Given the description of an element on the screen output the (x, y) to click on. 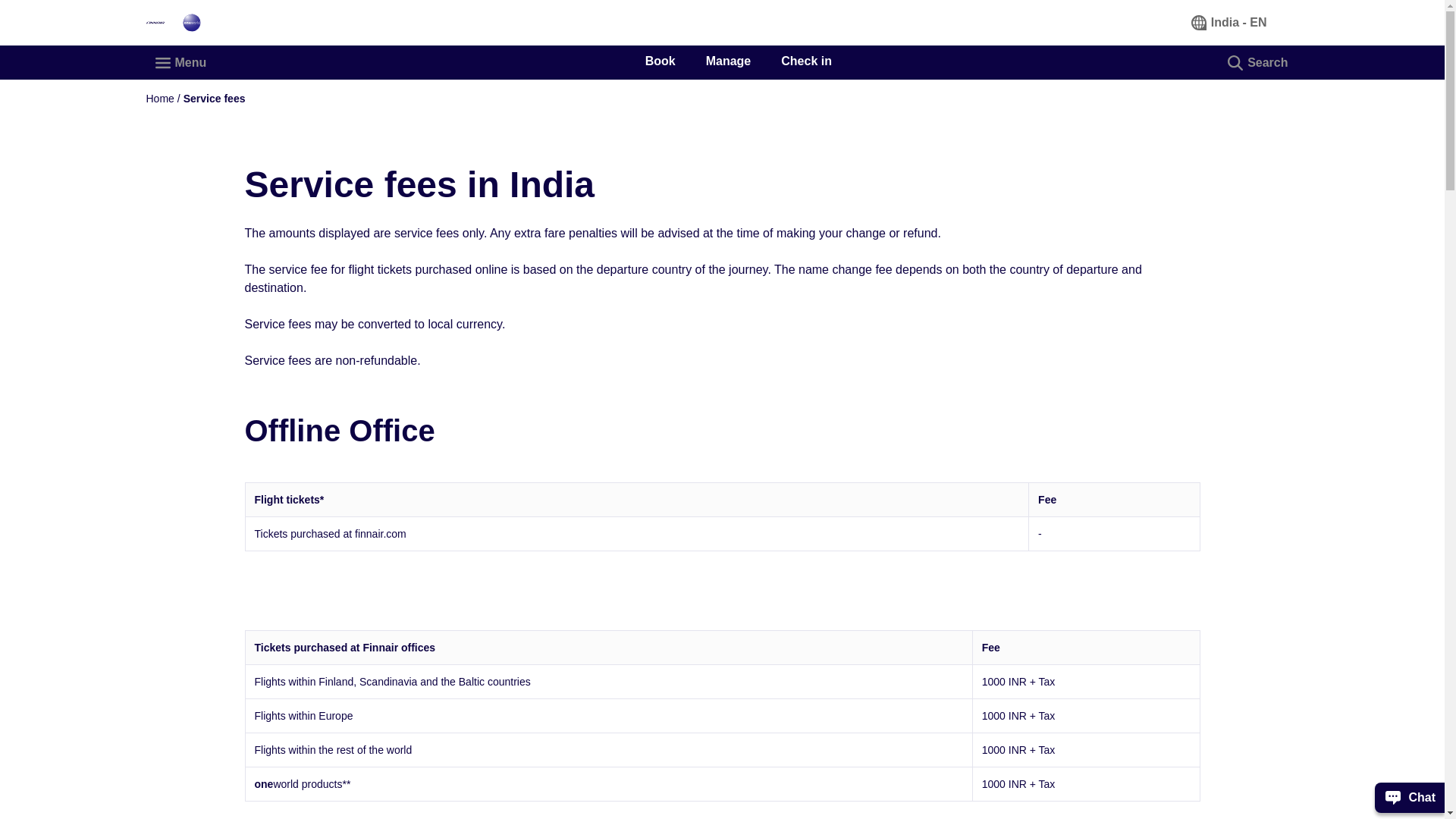
Book (660, 61)
Menu (180, 61)
Search (1258, 61)
Manage (728, 61)
Check in (805, 61)
India - EN (1230, 22)
